Given the description of an element on the screen output the (x, y) to click on. 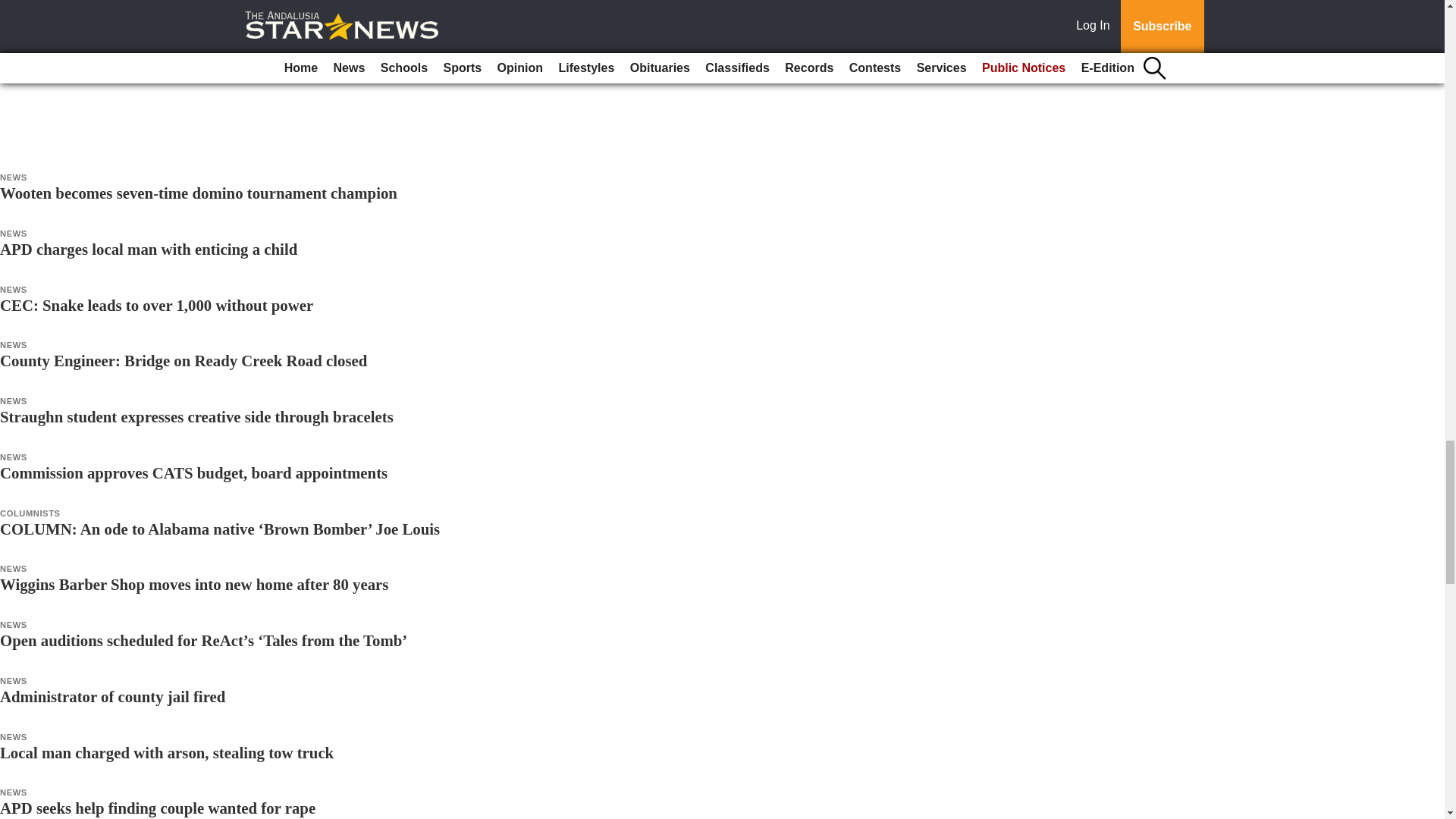
Commission approves CATS budget, board appointments (193, 472)
APD seeks help finding couple wanted for rape (157, 807)
Commission approves CATS budget, board appointments (193, 472)
APD seeks help finding couple wanted for rape (157, 807)
Straughn student expresses creative side through bracelets (196, 416)
Administrator of county jail fired (112, 696)
Wiggins Barber Shop moves into new home after 80 years (194, 583)
CEC: Snake leads to over 1,000 without power (156, 304)
County Engineer: Bridge on Ready Creek Road closed (183, 360)
CEC: Snake leads to over 1,000 without power (156, 304)
County Engineer: Bridge on Ready Creek Road closed (183, 360)
APD charges local man with enticing a child (148, 248)
Straughn student expresses creative side through bracelets (196, 416)
Local man charged with arson, stealing tow truck (166, 752)
Wooten becomes seven-time domino tournament champion (198, 192)
